Given the description of an element on the screen output the (x, y) to click on. 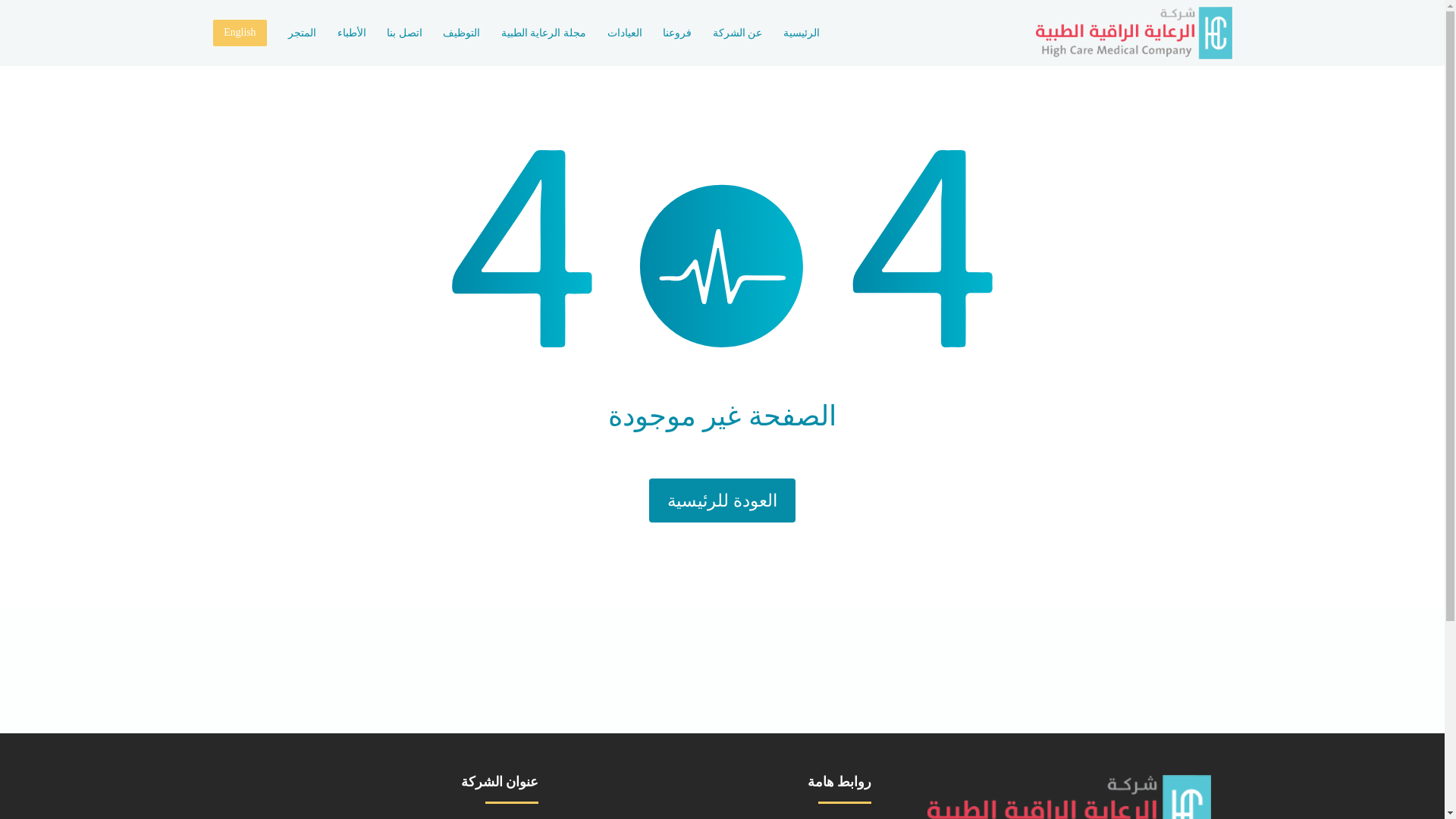
English (239, 32)
